Given the description of an element on the screen output the (x, y) to click on. 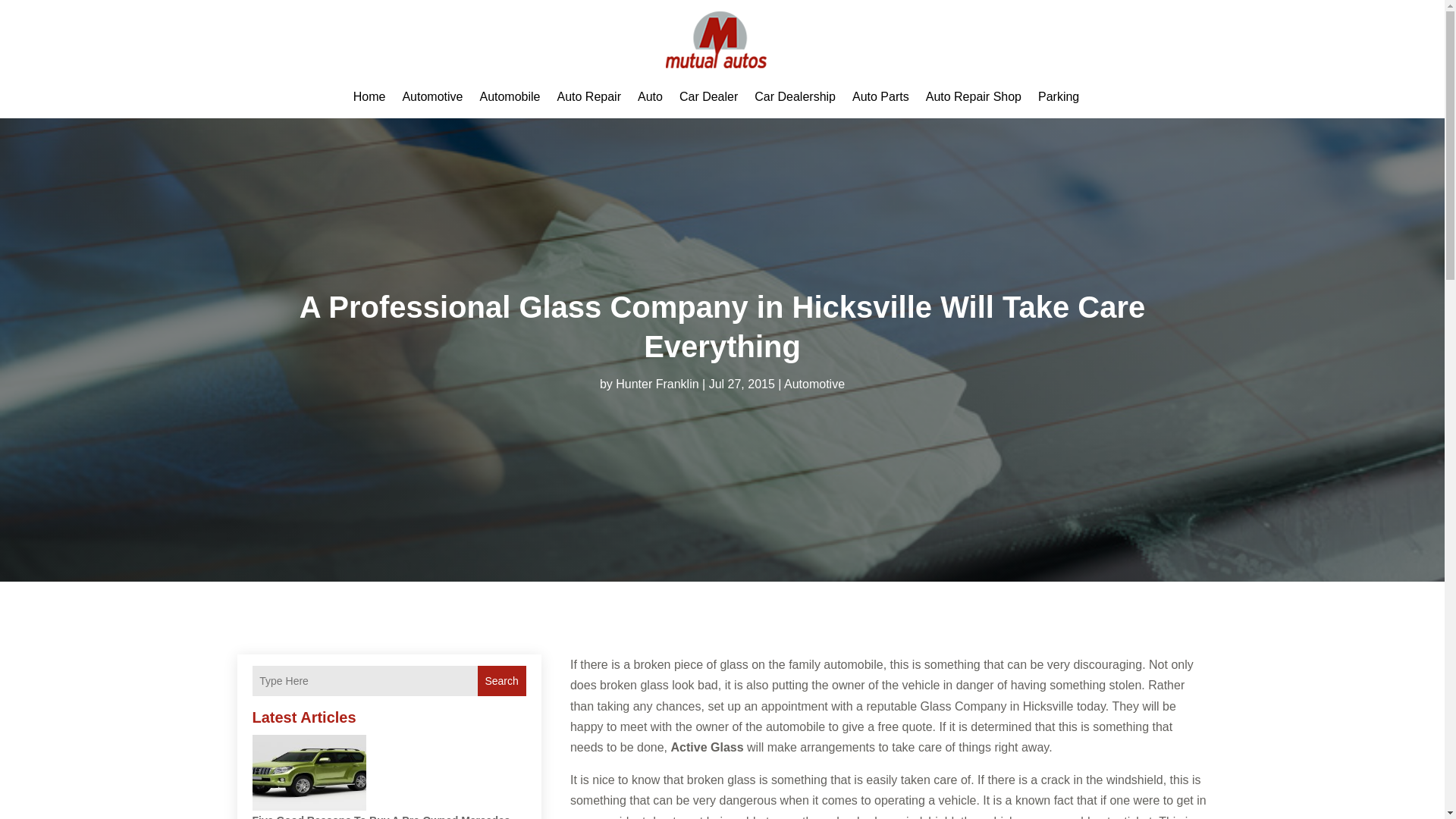
Car Dealer (708, 96)
Car Dealership (794, 96)
Five Good Reasons To Buy A Pre-Owned Mercedes-Benz For Sale (382, 816)
Automobile (509, 96)
Hunter Franklin (656, 383)
Auto Repair (588, 96)
Automotive (814, 383)
Automotive (432, 96)
Auto Parts (879, 96)
Posts by Hunter Franklin (656, 383)
Auto Repair Shop (974, 96)
Search (501, 680)
